Given the description of an element on the screen output the (x, y) to click on. 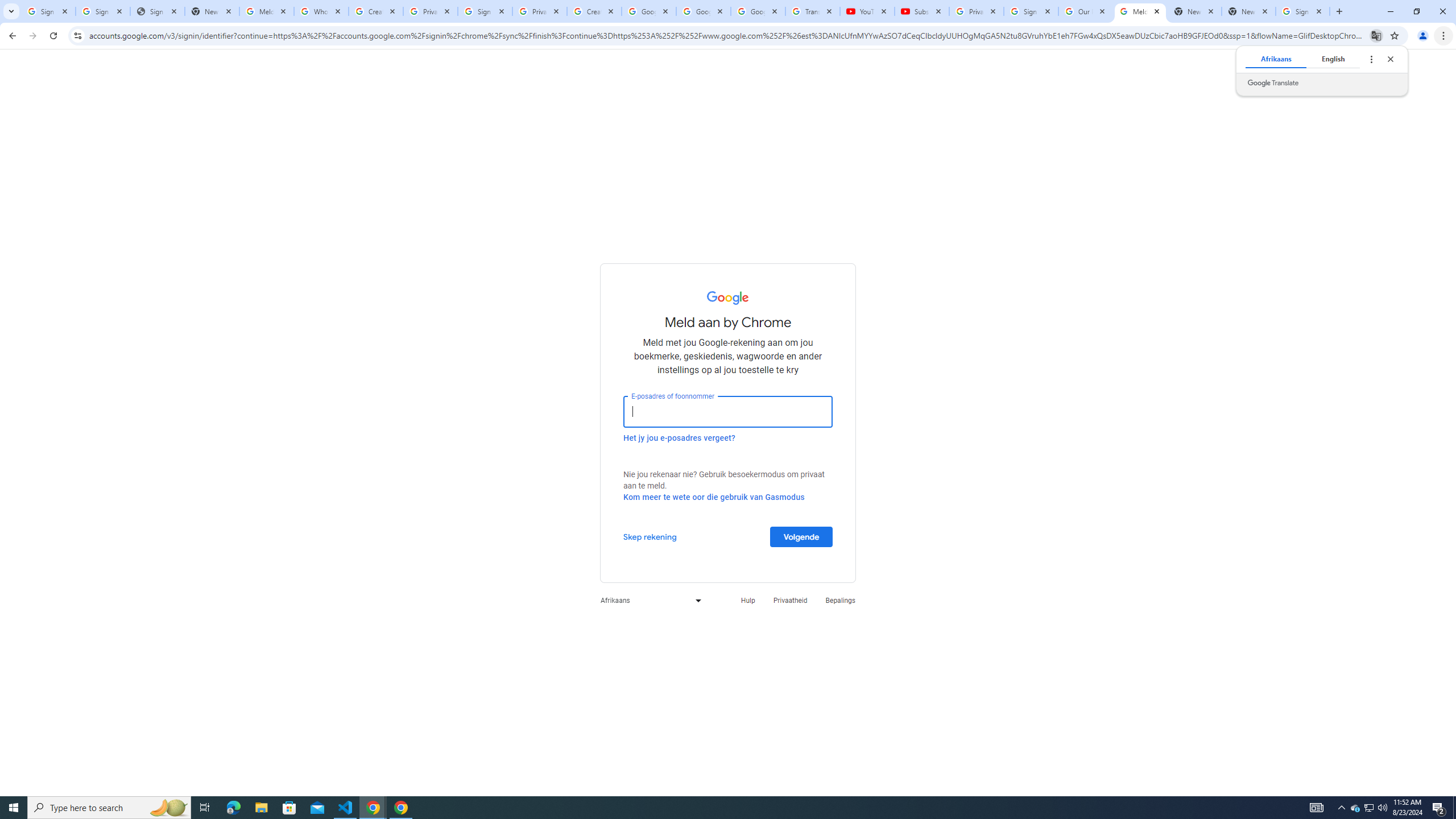
Volgende (801, 536)
E-posadres of foonnommer (727, 411)
Google Account (757, 11)
New Tab (1249, 11)
Skep rekening (649, 536)
Bepalings (840, 600)
Afrikaans (647, 600)
Create your Google Account (594, 11)
Kom meer te wete oor die gebruik van Gasmodus (713, 497)
